Given the description of an element on the screen output the (x, y) to click on. 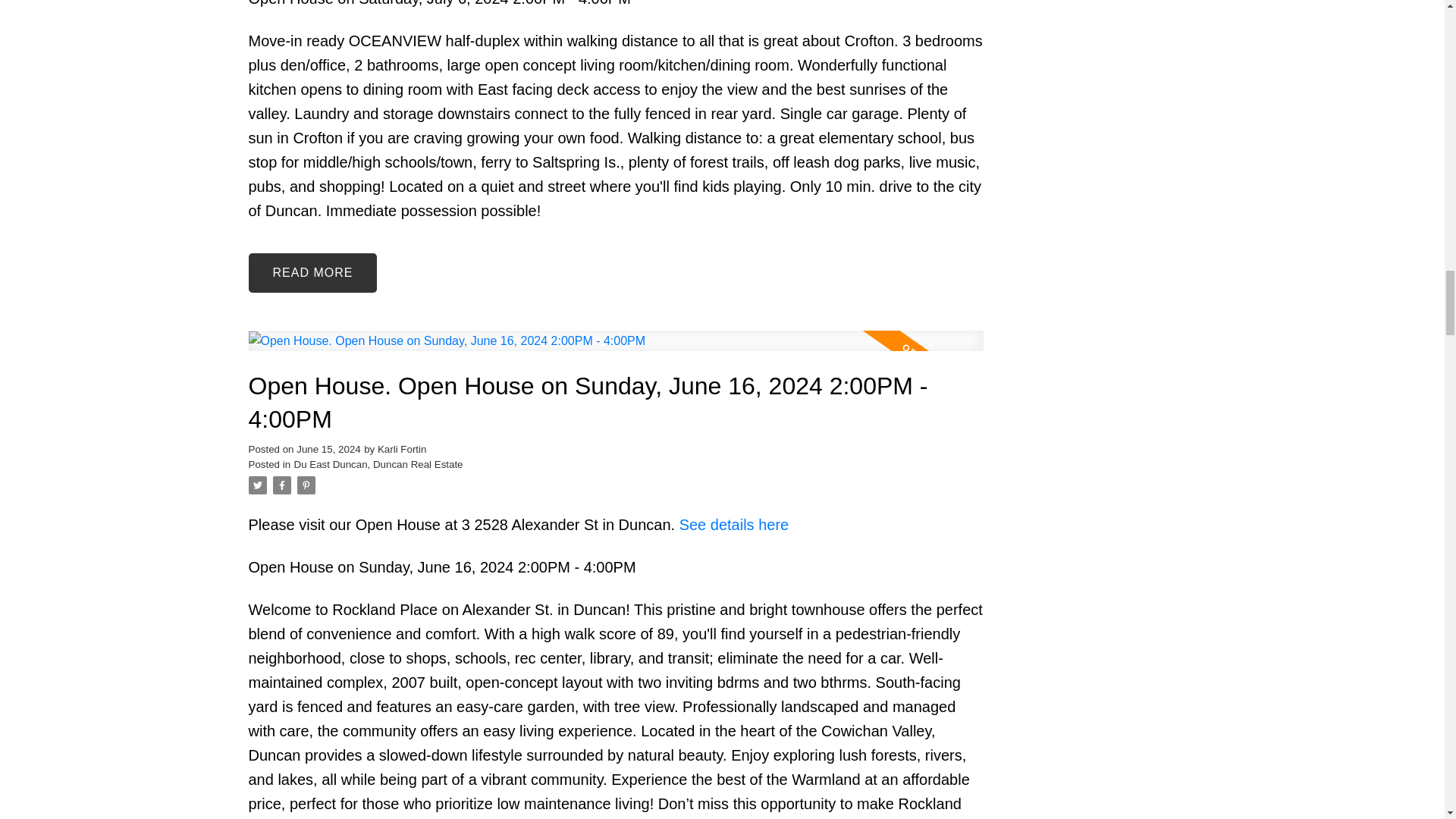
Read full post (616, 349)
